Given the description of an element on the screen output the (x, y) to click on. 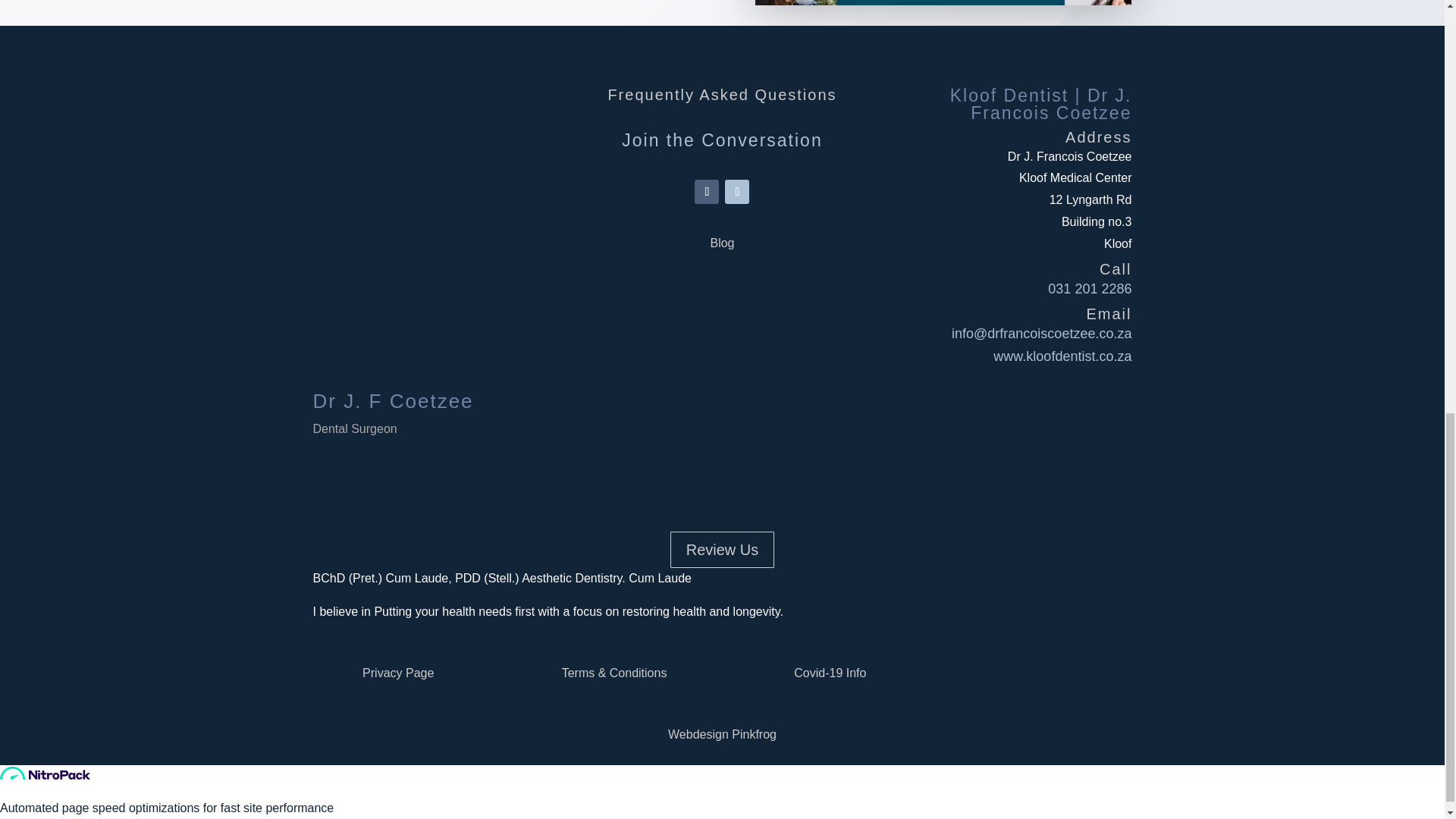
Frequently Asked Questions (721, 94)
Webdesign (698, 734)
031 201 2286 (1089, 288)
Privacy Page (397, 672)
Pinkfrog (754, 734)
Follow on Facebook (706, 191)
www.kloofdentist.co.za (1061, 355)
Follow on Youtube (737, 191)
Blog (721, 242)
Review Us (721, 549)
